Given the description of an element on the screen output the (x, y) to click on. 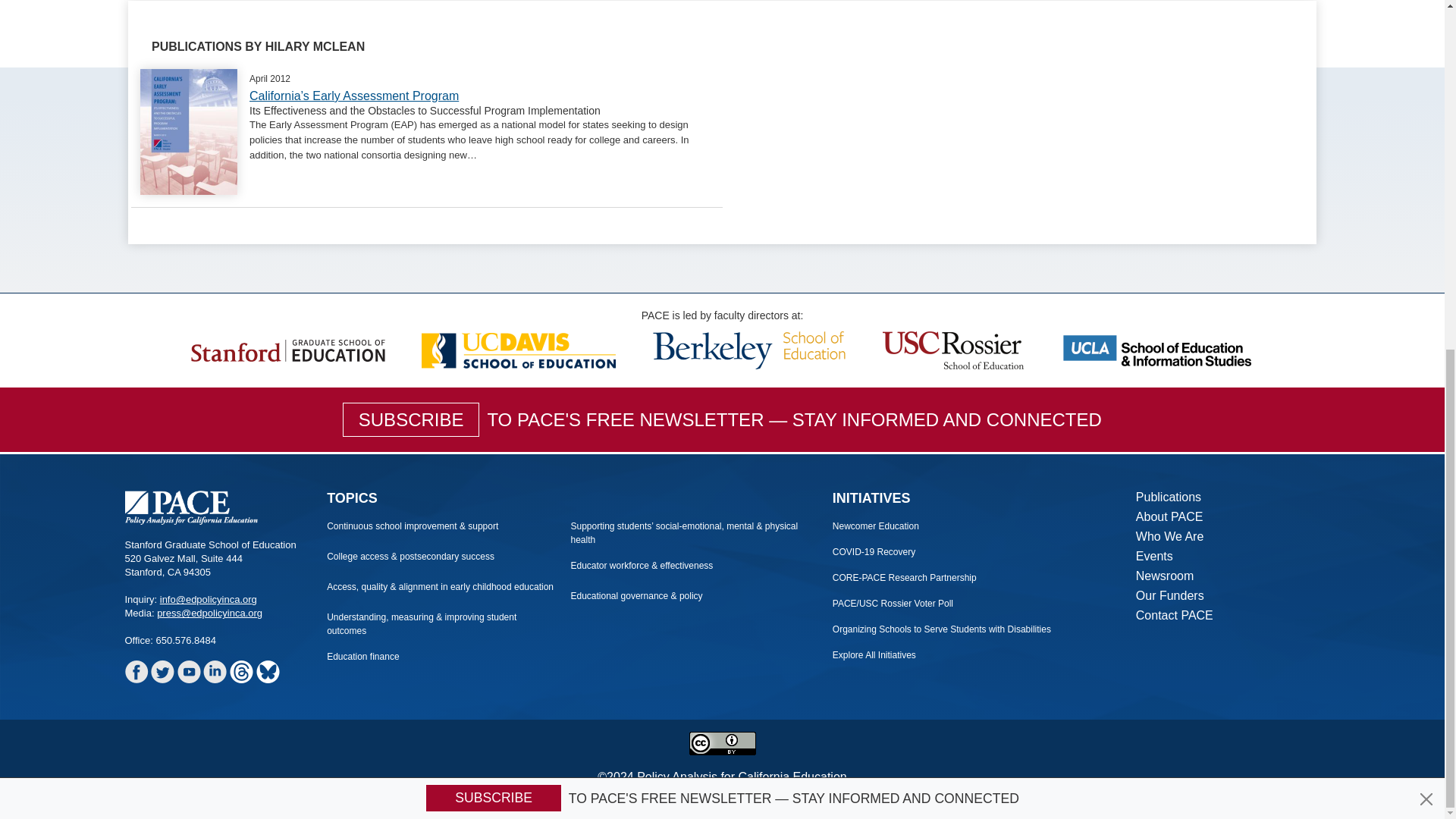
Stanford Graduate School of Education (288, 348)
Subscribe! (493, 193)
USC Rossier School of Education (953, 348)
SUBSCRIBE (493, 193)
UC Davis School of Education (518, 348)
UCLA Graduate School of Education and Information Studies (1157, 348)
